Given the description of an element on the screen output the (x, y) to click on. 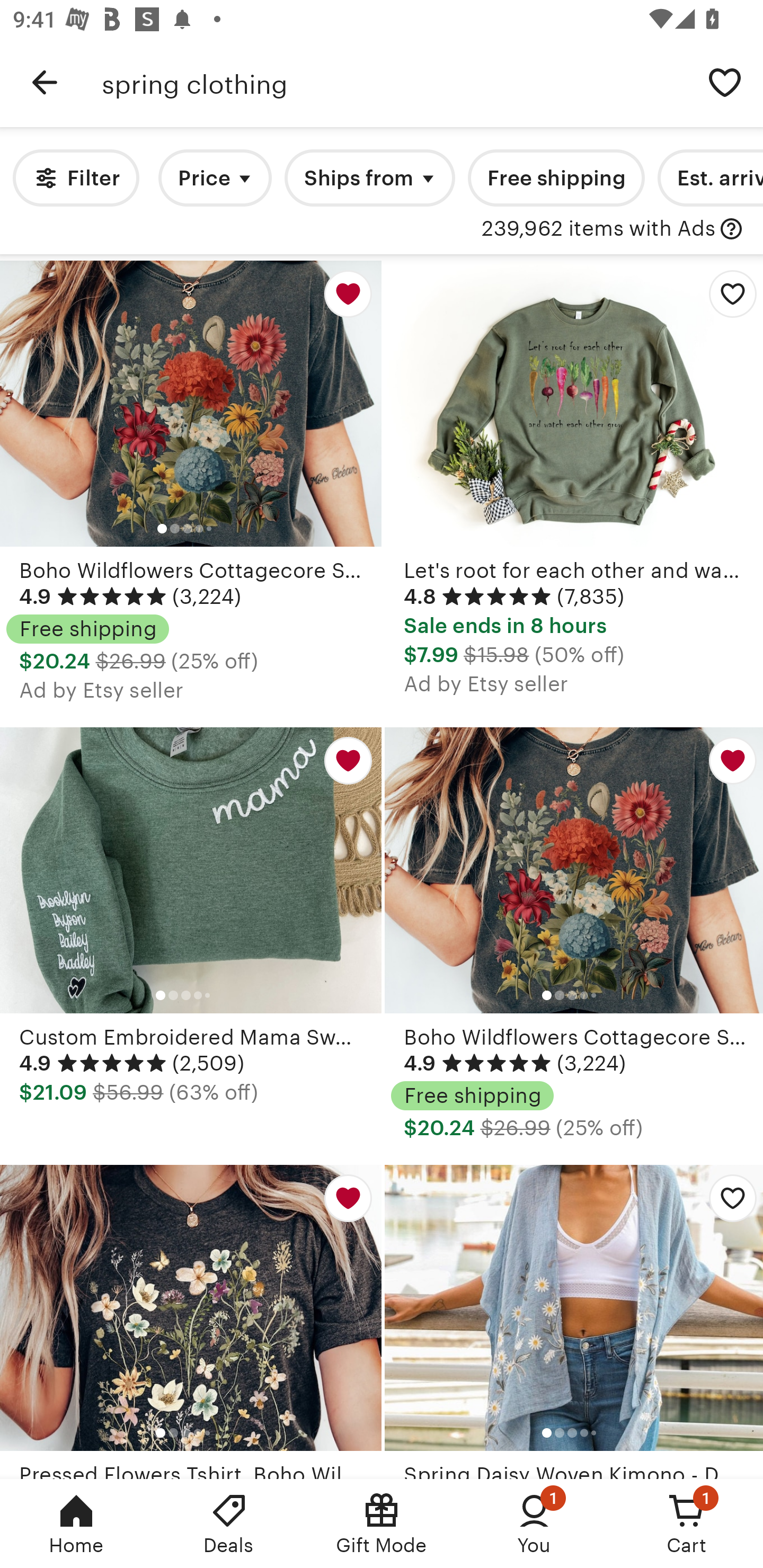
Navigate up (44, 82)
Save search (724, 81)
spring clothing (393, 82)
Filter (75, 177)
Price (214, 177)
Ships from (369, 177)
Free shipping (555, 177)
239,962 items with Ads (598, 228)
with Ads (730, 228)
Deals (228, 1523)
Gift Mode (381, 1523)
You, 1 new notification You (533, 1523)
Cart, 1 new notification Cart (686, 1523)
